Given the description of an element on the screen output the (x, y) to click on. 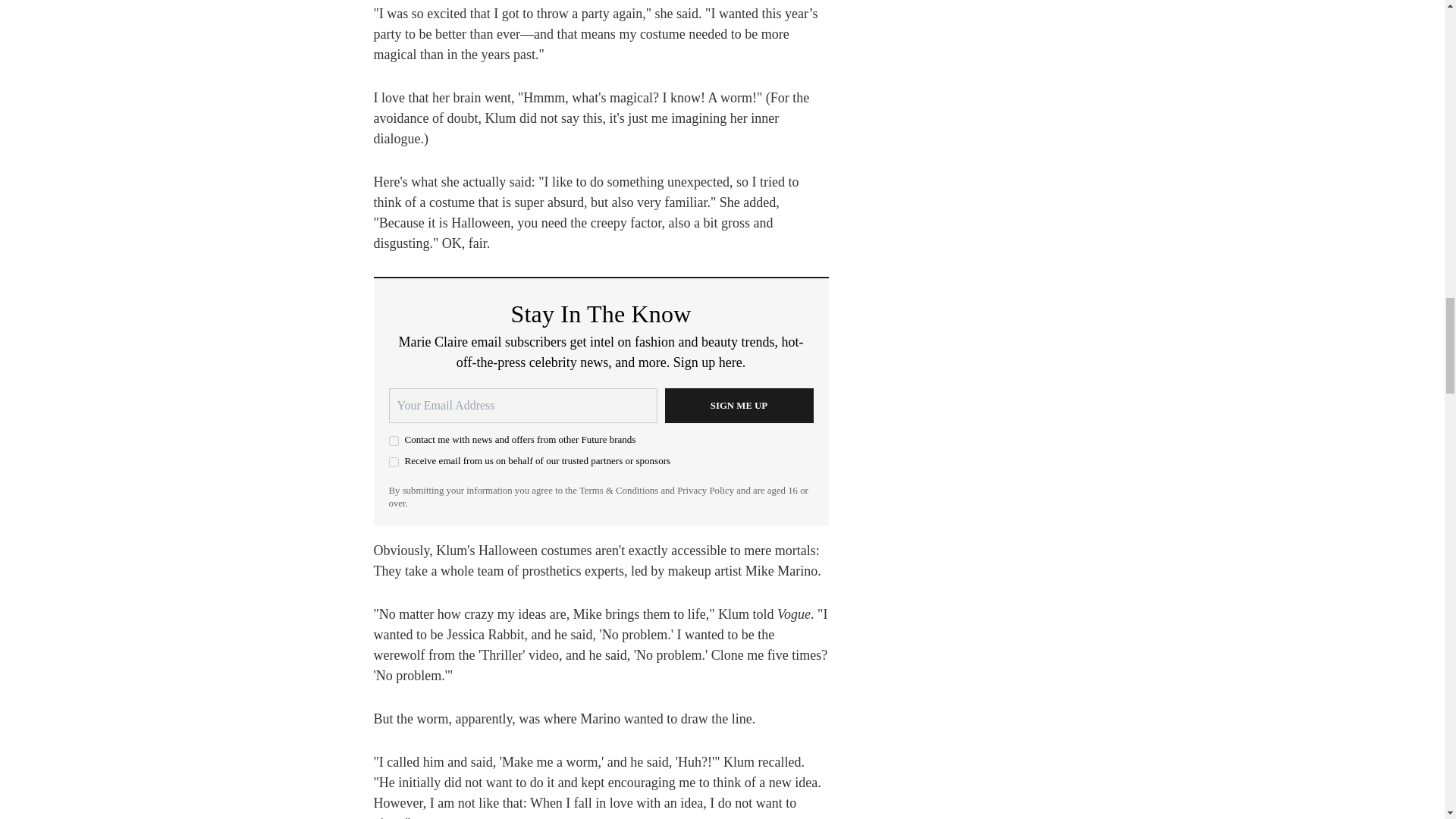
on (392, 461)
Sign me up (737, 405)
on (392, 440)
